Given the description of an element on the screen output the (x, y) to click on. 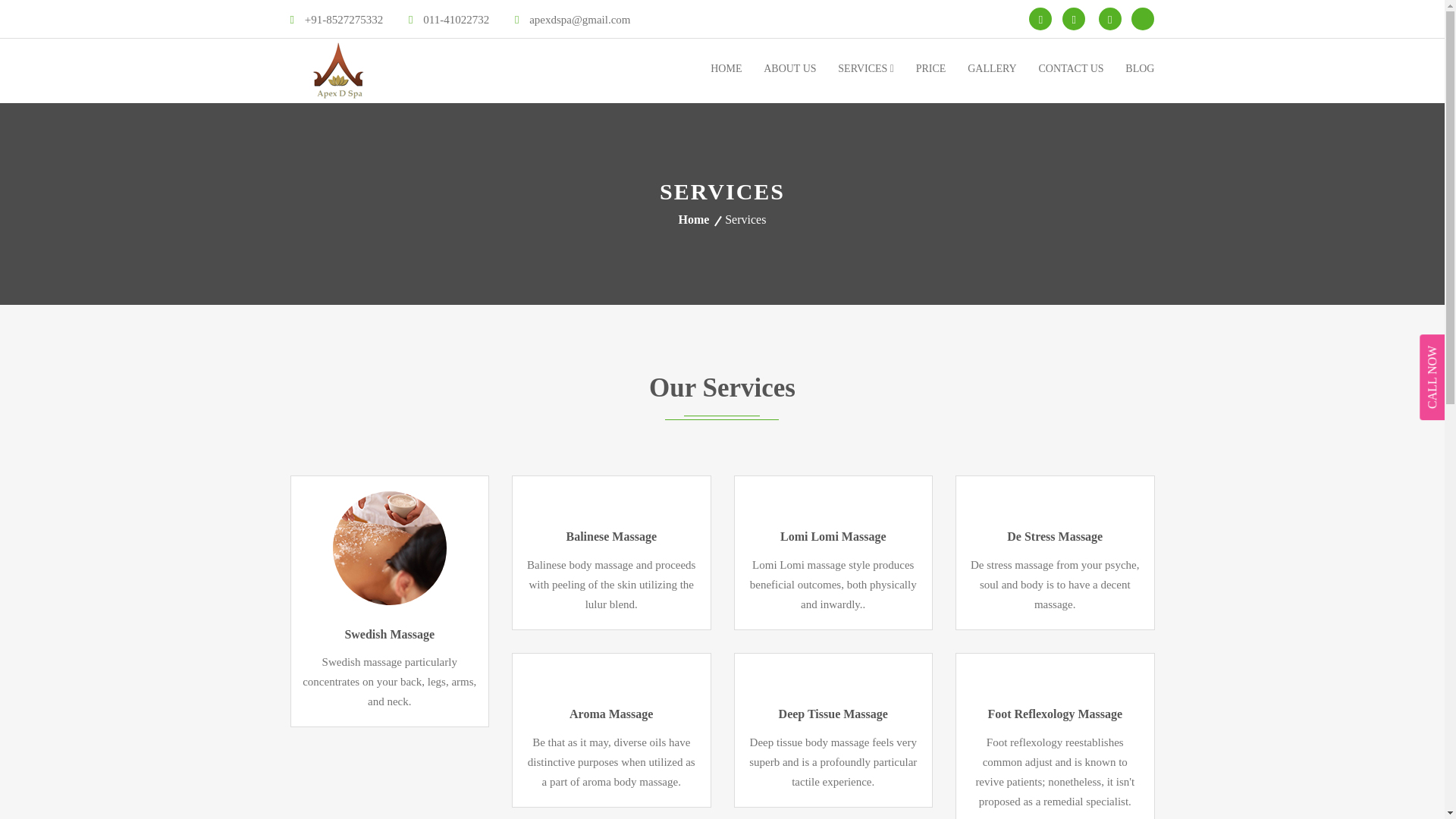
CONTACT US (1070, 68)
SERVICES (865, 68)
Home (700, 219)
011-41022732 (449, 19)
